Given the description of an element on the screen output the (x, y) to click on. 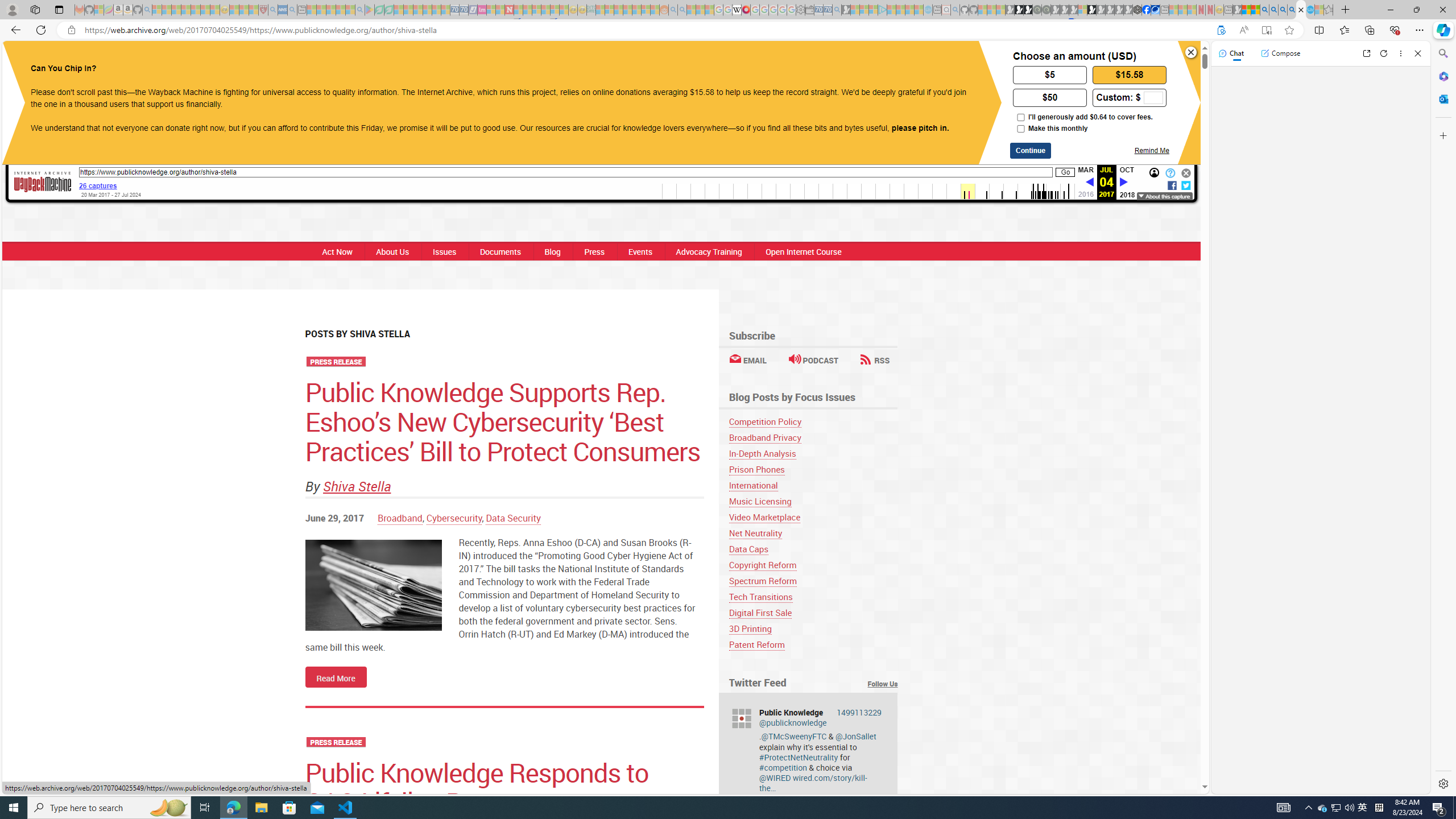
Previous capture (1088, 182)
Prison Phones (813, 469)
Future Focus Report 2024 - Sleeping (1045, 9)
Digital First Sale (760, 612)
